Given the description of an element on the screen output the (x, y) to click on. 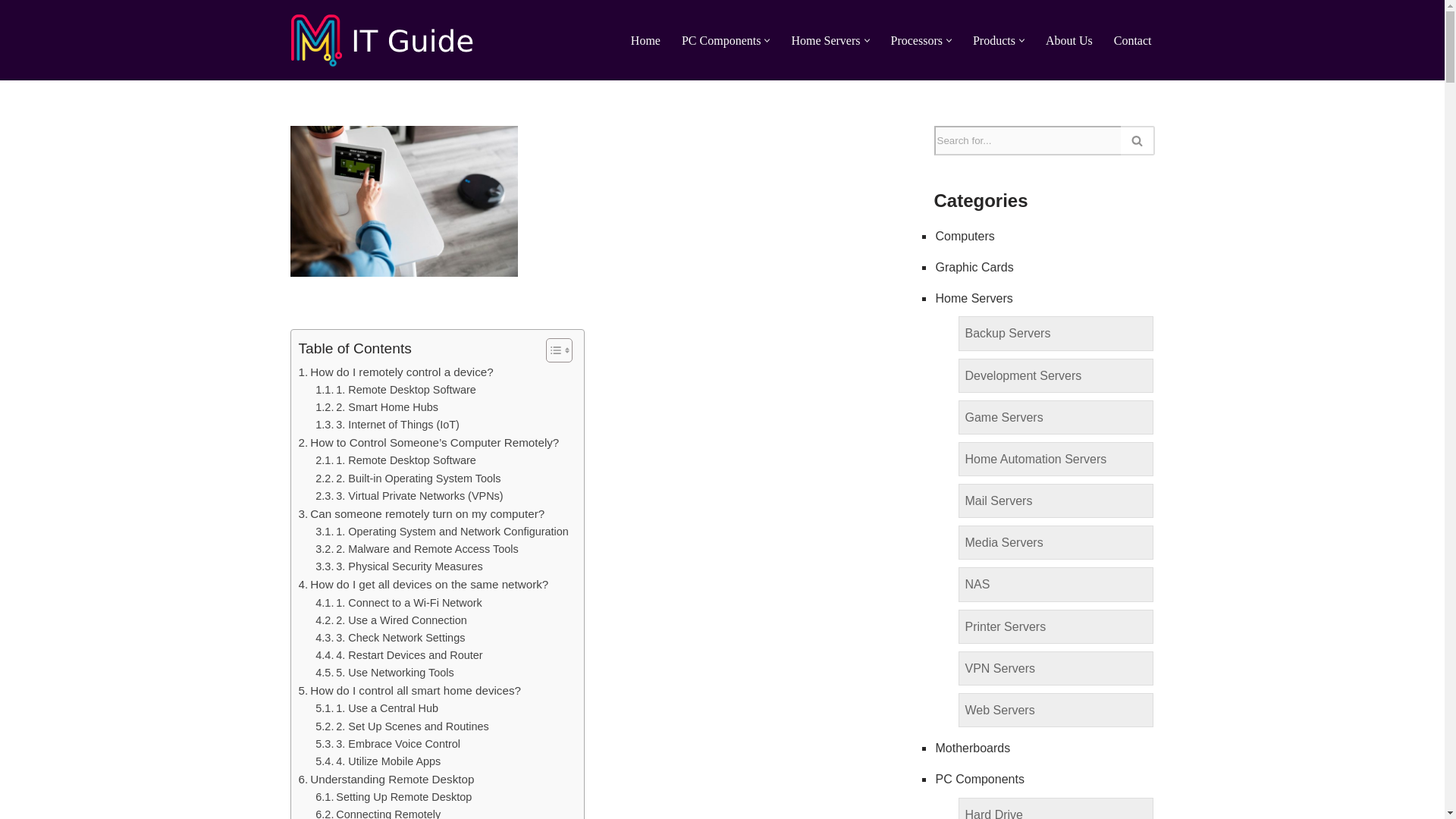
PC Components (720, 40)
2. Smart Home Hubs (376, 407)
Home Servers (825, 40)
2. Built-in Operating System Tools (407, 478)
Processors (916, 40)
How do I remotely control a device? (395, 372)
1. Remote Desktop Software (395, 389)
2. Malware and Remote Access Tools (416, 548)
1. Operating System and Network Configuration (442, 531)
Can someone remotely turn on my computer? (421, 514)
